Given the description of an element on the screen output the (x, y) to click on. 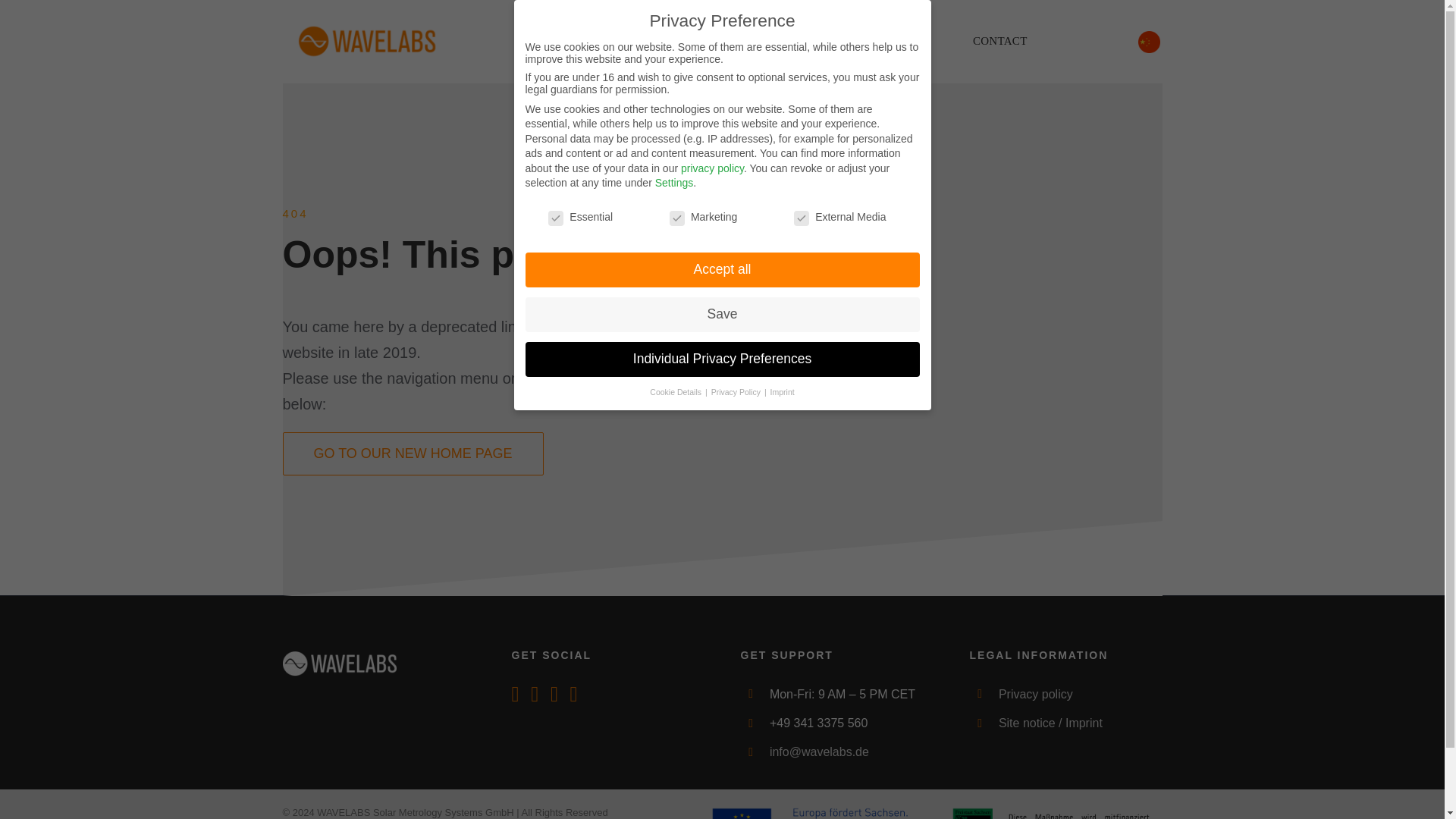
APPLICATIONS (682, 41)
COMPANY (807, 41)
PRODUCTS (556, 41)
CONTACT (999, 41)
